Given the description of an element on the screen output the (x, y) to click on. 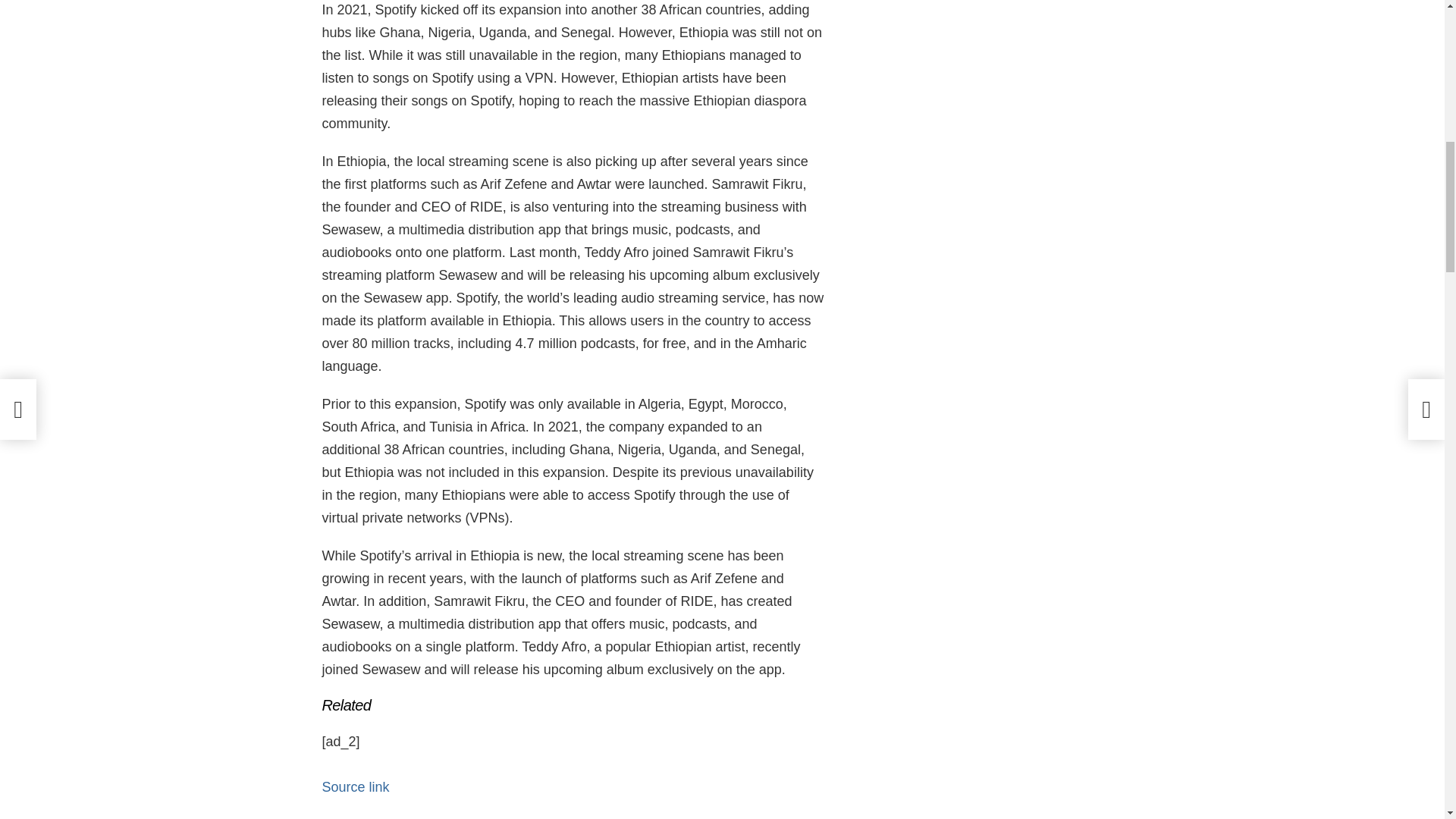
Source link (354, 786)
